Given the description of an element on the screen output the (x, y) to click on. 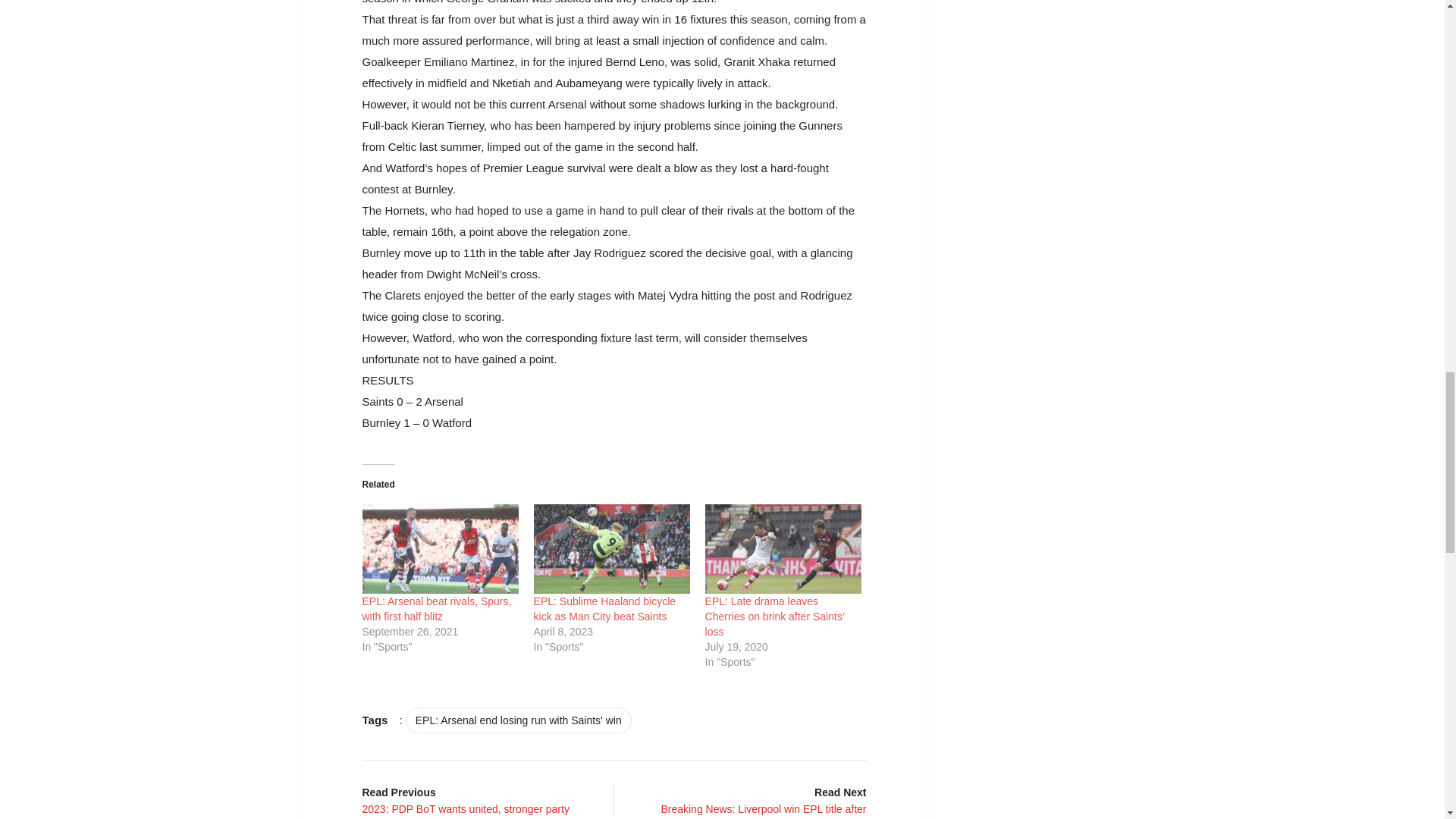
EPL: Sublime Haaland bicycle kick as Man City beat Saints (605, 608)
EPL: Arsenal beat rivals, Spurs, with first half blitz (440, 548)
EPL: Sublime Haaland bicycle kick as Man City beat Saints (612, 548)
EPL: Arsenal beat rivals, Spurs, with first half blitz (437, 608)
